Given the description of an element on the screen output the (x, y) to click on. 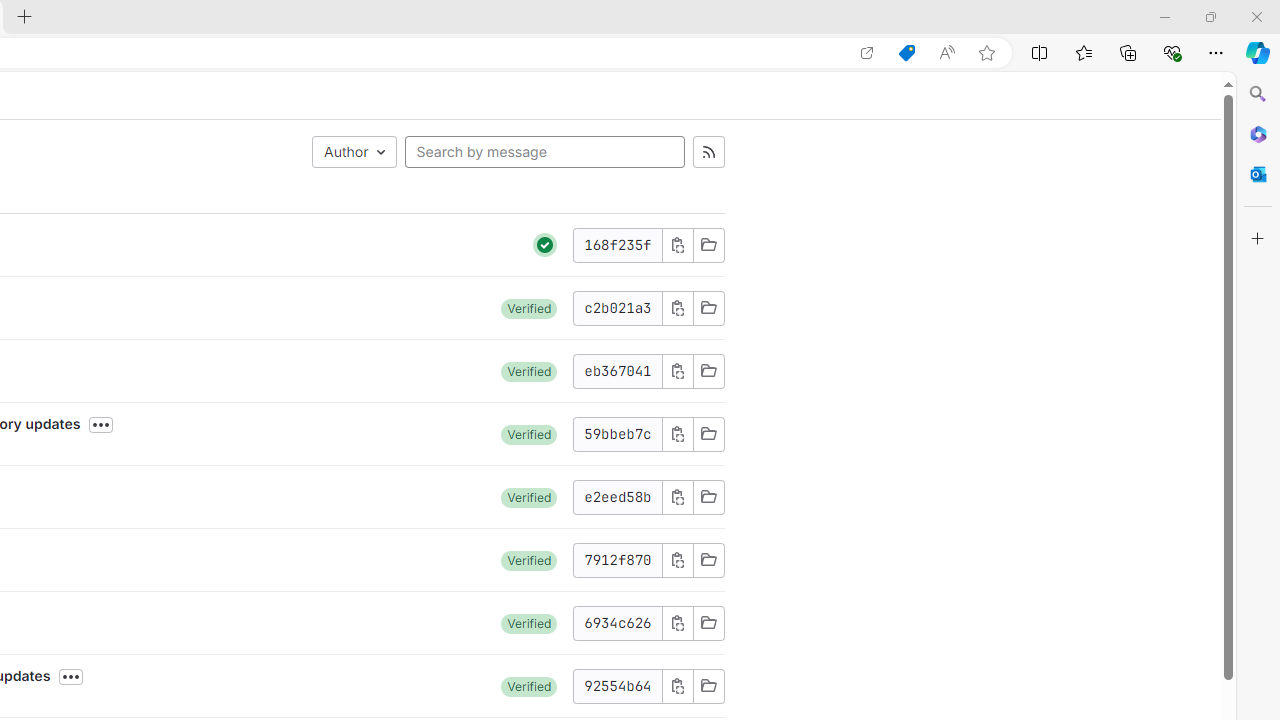
Favorites (1083, 52)
Split screen (1039, 52)
Class: s24 gl-icon (545, 244)
New Tab (24, 17)
Settings and more (Alt+F) (1215, 52)
Shopping in Microsoft Edge (906, 53)
Restore (1210, 16)
Class: s16 gl-icon gl-button-icon  (677, 686)
Search by message (544, 151)
Customize (1258, 239)
Read aloud this page (Ctrl+Shift+U) (946, 53)
Copy commit SHA (676, 686)
Add this page to favorites (Ctrl+D) (986, 53)
